Given the description of an element on the screen output the (x, y) to click on. 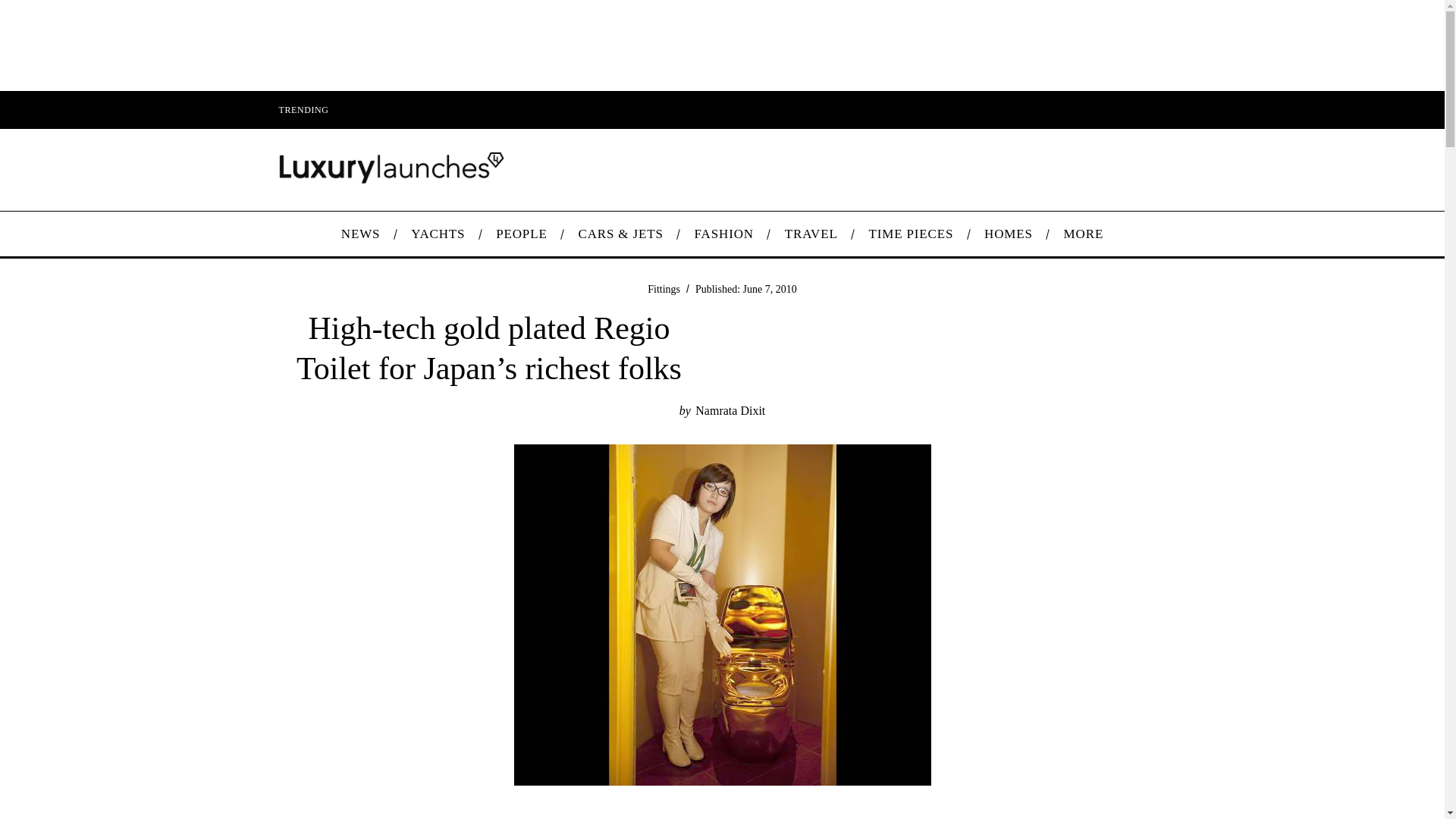
TRAVEL (810, 233)
Namrata Dixit (730, 410)
FASHION (723, 233)
TIME PIECES (911, 233)
Fittings (663, 288)
MORE (1083, 233)
TRENDING (302, 109)
HOMES (1008, 233)
